Given the description of an element on the screen output the (x, y) to click on. 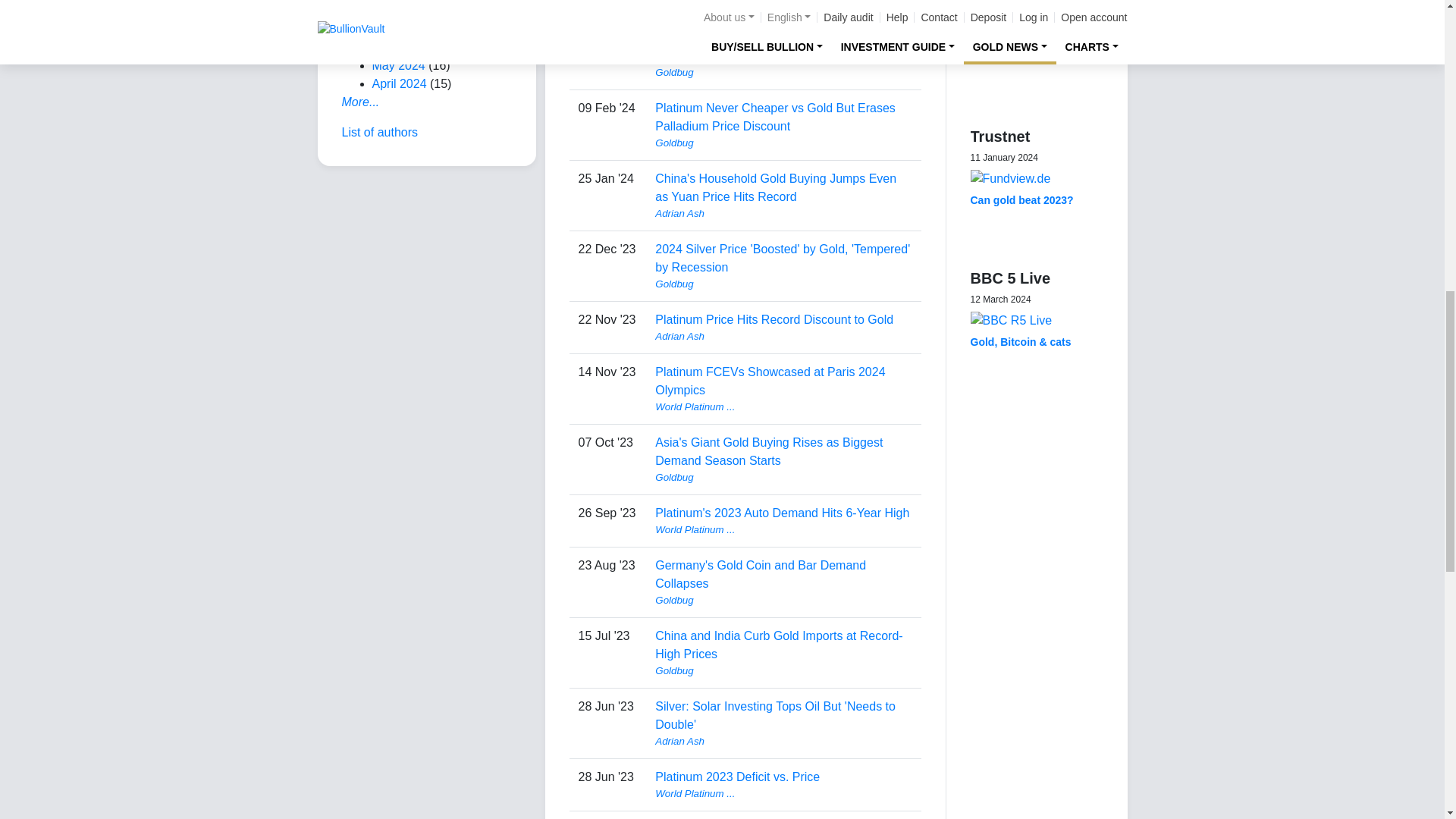
View user profile. (783, 142)
View user profile. (783, 213)
View user profile. (783, 283)
View user profile. (783, 4)
View user profile. (783, 72)
